Given the description of an element on the screen output the (x, y) to click on. 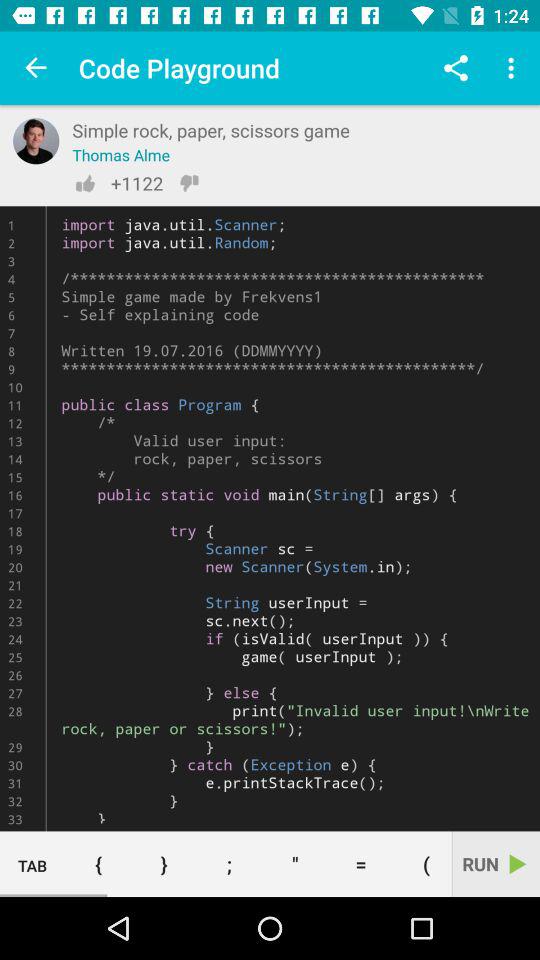
go to user account (36, 141)
